Given the description of an element on the screen output the (x, y) to click on. 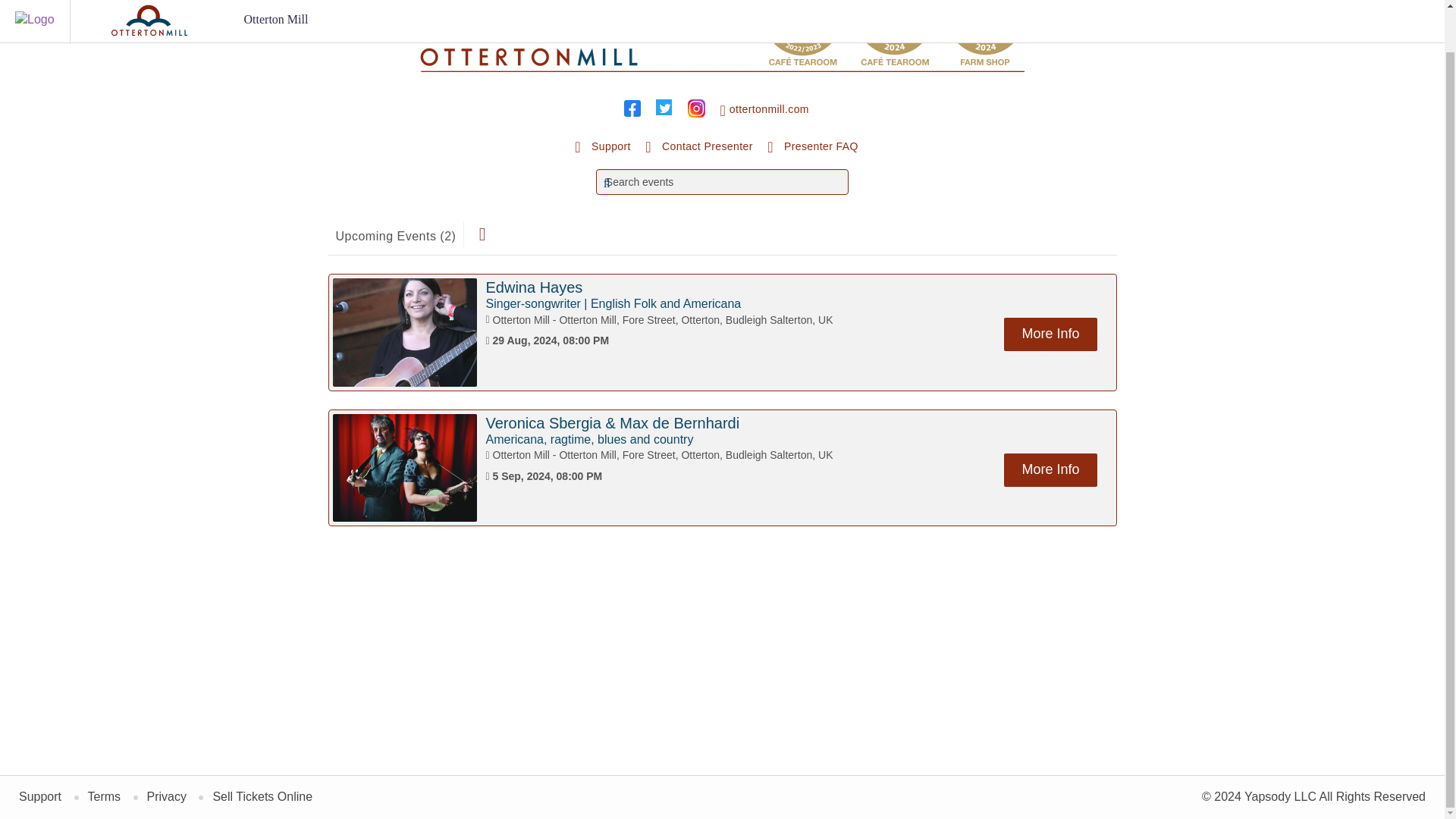
Edwina Hayes (533, 287)
Sell Tickets Online (262, 796)
Privacy (166, 796)
Presenter FAQ (813, 147)
Contact Presenter (698, 147)
More Info (1050, 469)
Support (39, 796)
Terms (103, 796)
